Given the description of an element on the screen output the (x, y) to click on. 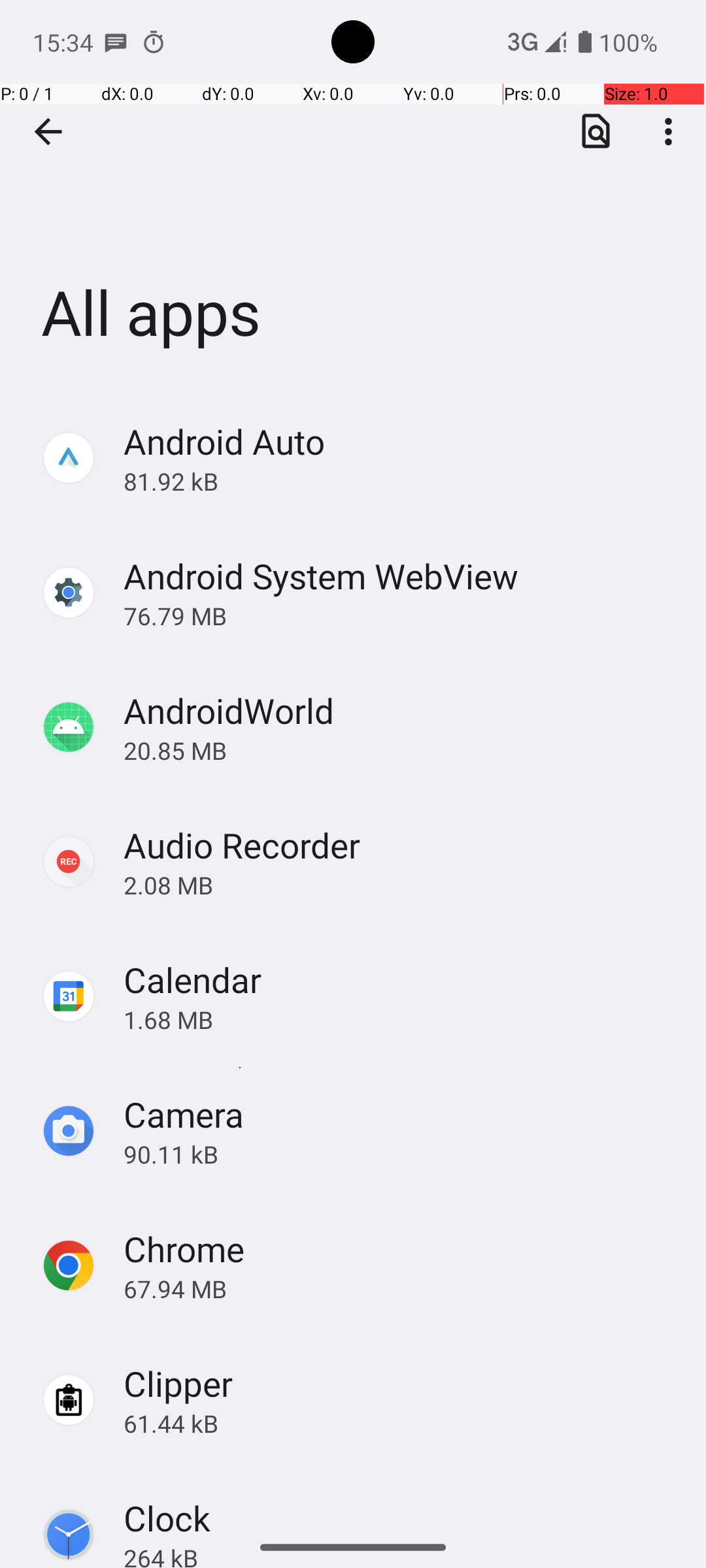
All apps Element type: android.widget.FrameLayout (353, 195)
81.92 kB Element type: android.widget.TextView (400, 480)
76.79 MB Element type: android.widget.TextView (400, 615)
20.85 MB Element type: android.widget.TextView (400, 750)
2.08 MB Element type: android.widget.TextView (400, 884)
1.68 MB Element type: android.widget.TextView (400, 1019)
90.11 kB Element type: android.widget.TextView (400, 1153)
67.94 MB Element type: android.widget.TextView (400, 1288)
61.44 kB Element type: android.widget.TextView (400, 1422)
